Given the description of an element on the screen output the (x, y) to click on. 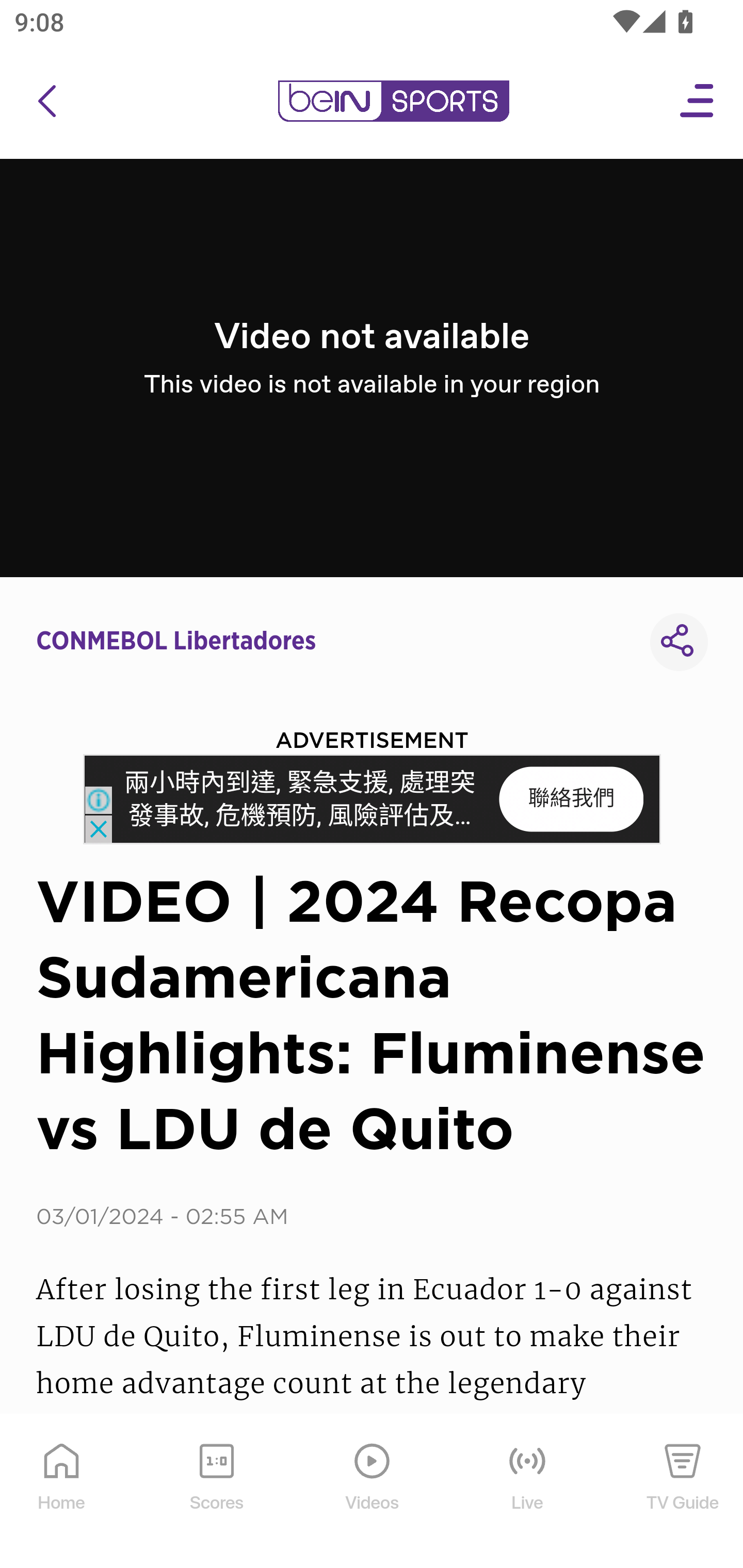
en-us?platform=mobile_android bein logo (392, 101)
icon back (46, 101)
Open Menu Icon (697, 101)
Home Home Icon Home (61, 1491)
Scores Scores Icon Scores (216, 1491)
Videos Videos Icon Videos (372, 1491)
TV Guide TV Guide Icon TV Guide (682, 1491)
